Given the description of an element on the screen output the (x, y) to click on. 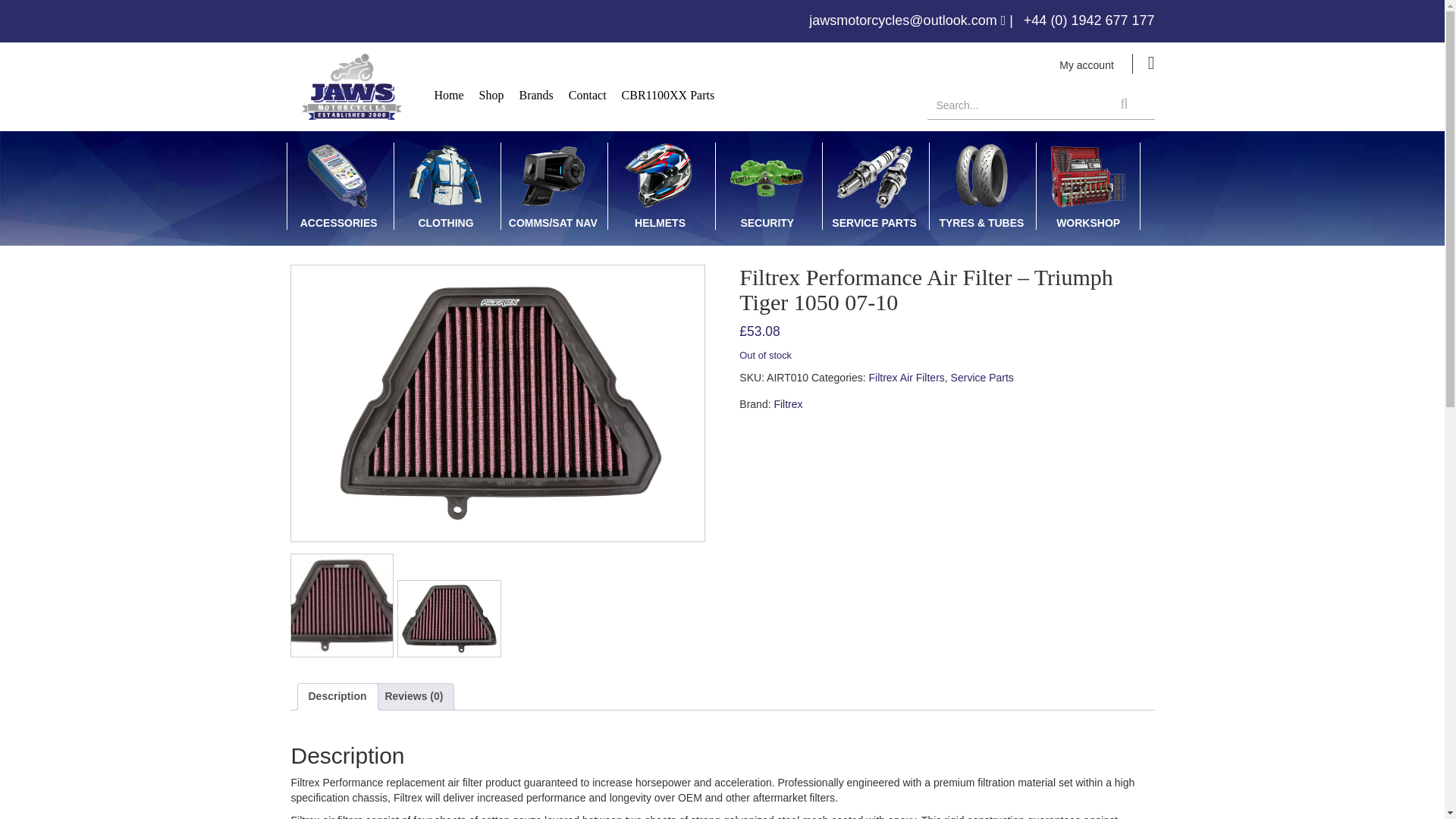
ACCESSORIES (339, 186)
My account (1086, 64)
CLOTHING (445, 186)
Brands (536, 95)
Filtrex Performance Air Filter - Triumph Tiger 1050 07-10 3 (448, 618)
HELMETS (659, 186)
SERVICE PARTS (874, 186)
CBR1100XX Parts (668, 95)
Description (336, 696)
Brands (536, 95)
Home (448, 95)
CBR1100XX Parts (668, 95)
Service Parts (981, 377)
Filtrex Air Filters (905, 377)
SECURITY (767, 186)
